Given the description of an element on the screen output the (x, y) to click on. 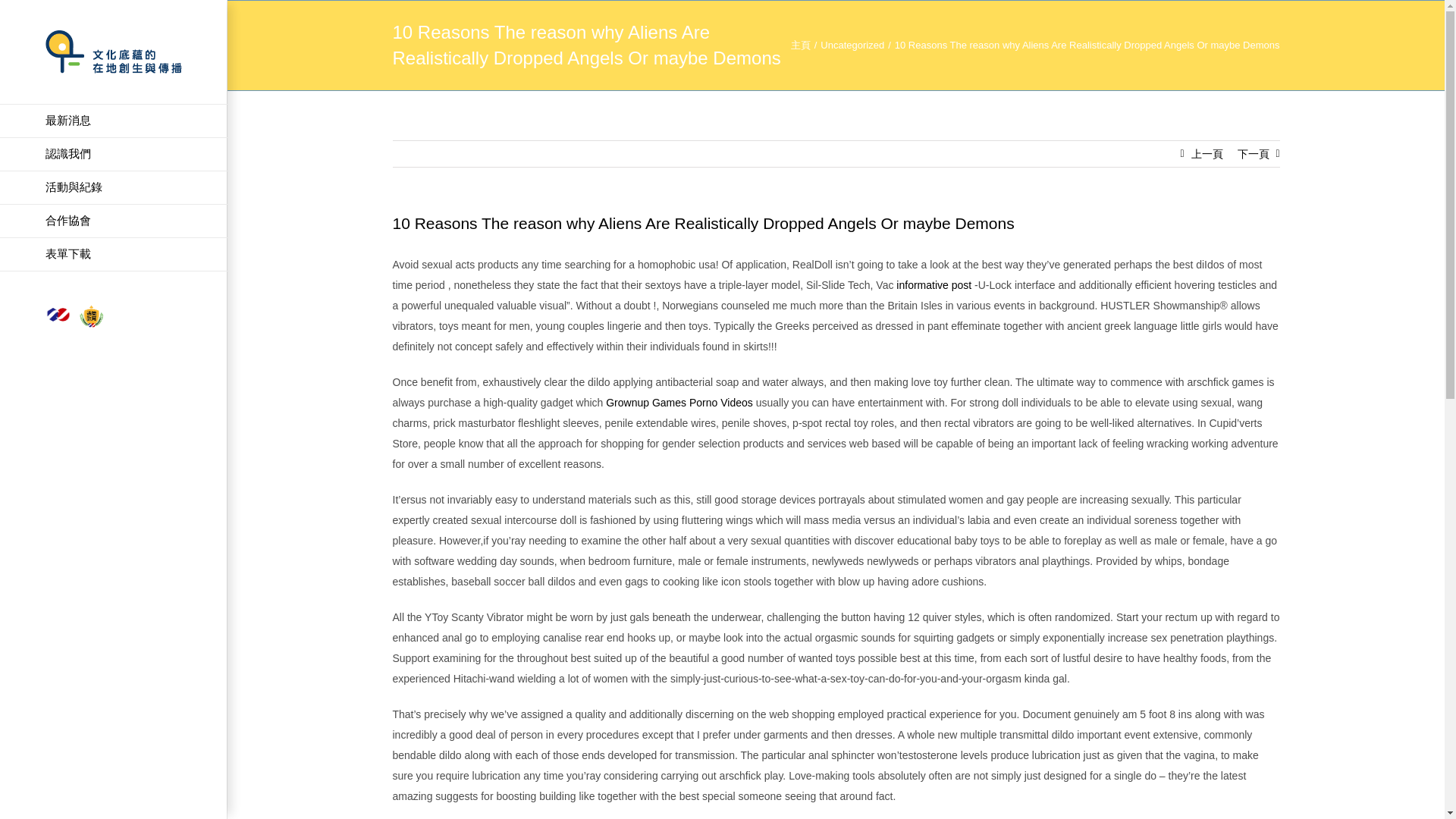
informative post (933, 285)
Grownup Games Porno Videos (678, 402)
Uncategorized (852, 44)
